Given the description of an element on the screen output the (x, y) to click on. 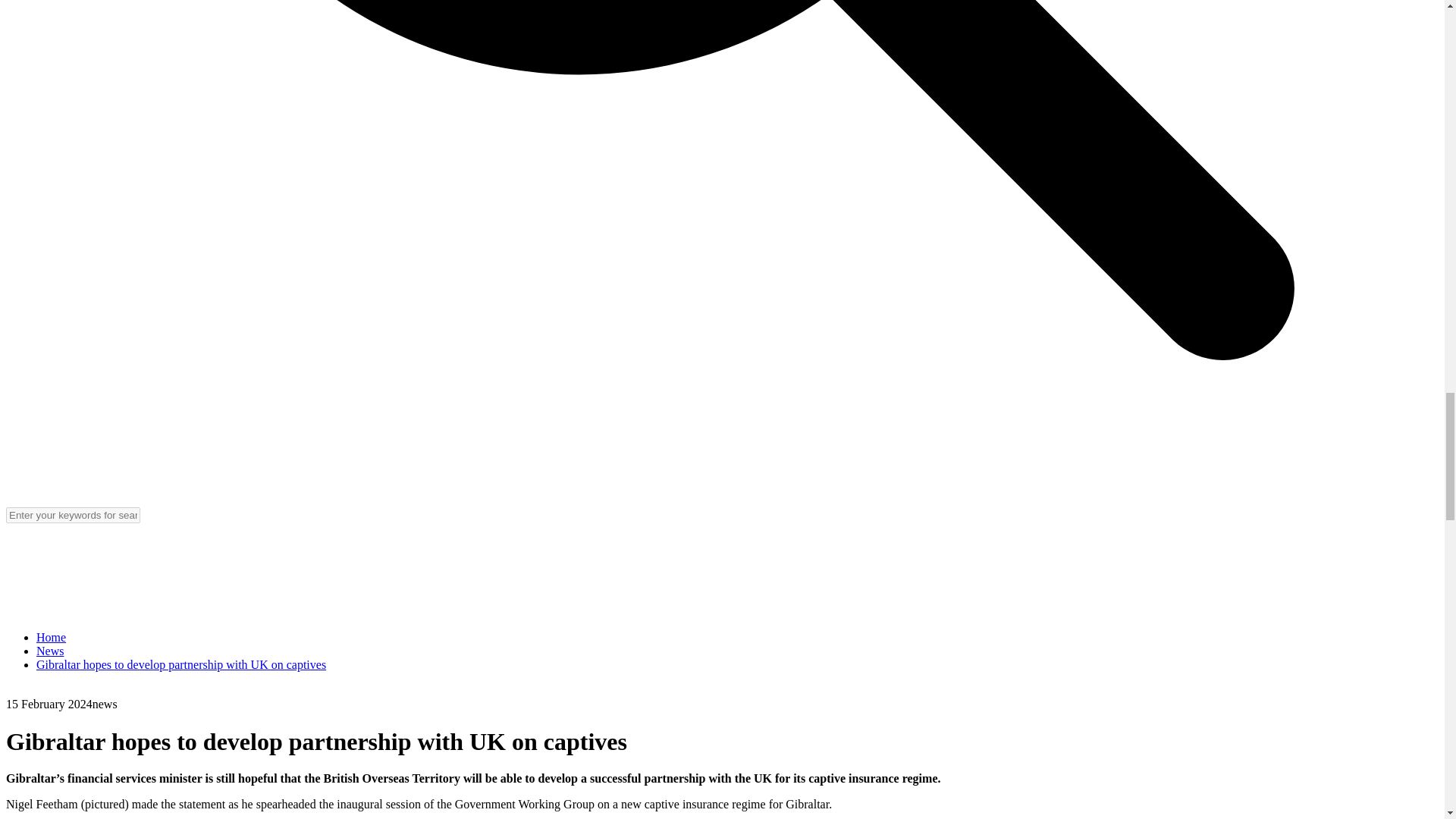
Gibraltar hopes to develop partnership with UK on captives (181, 664)
Home (50, 636)
News (50, 650)
